Given the description of an element on the screen output the (x, y) to click on. 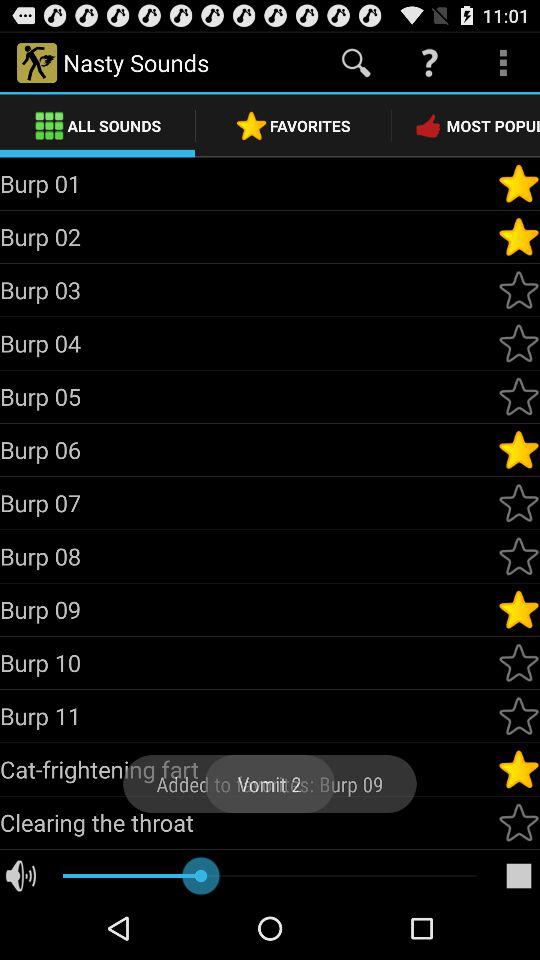
toggle favorite (519, 769)
